Given the description of an element on the screen output the (x, y) to click on. 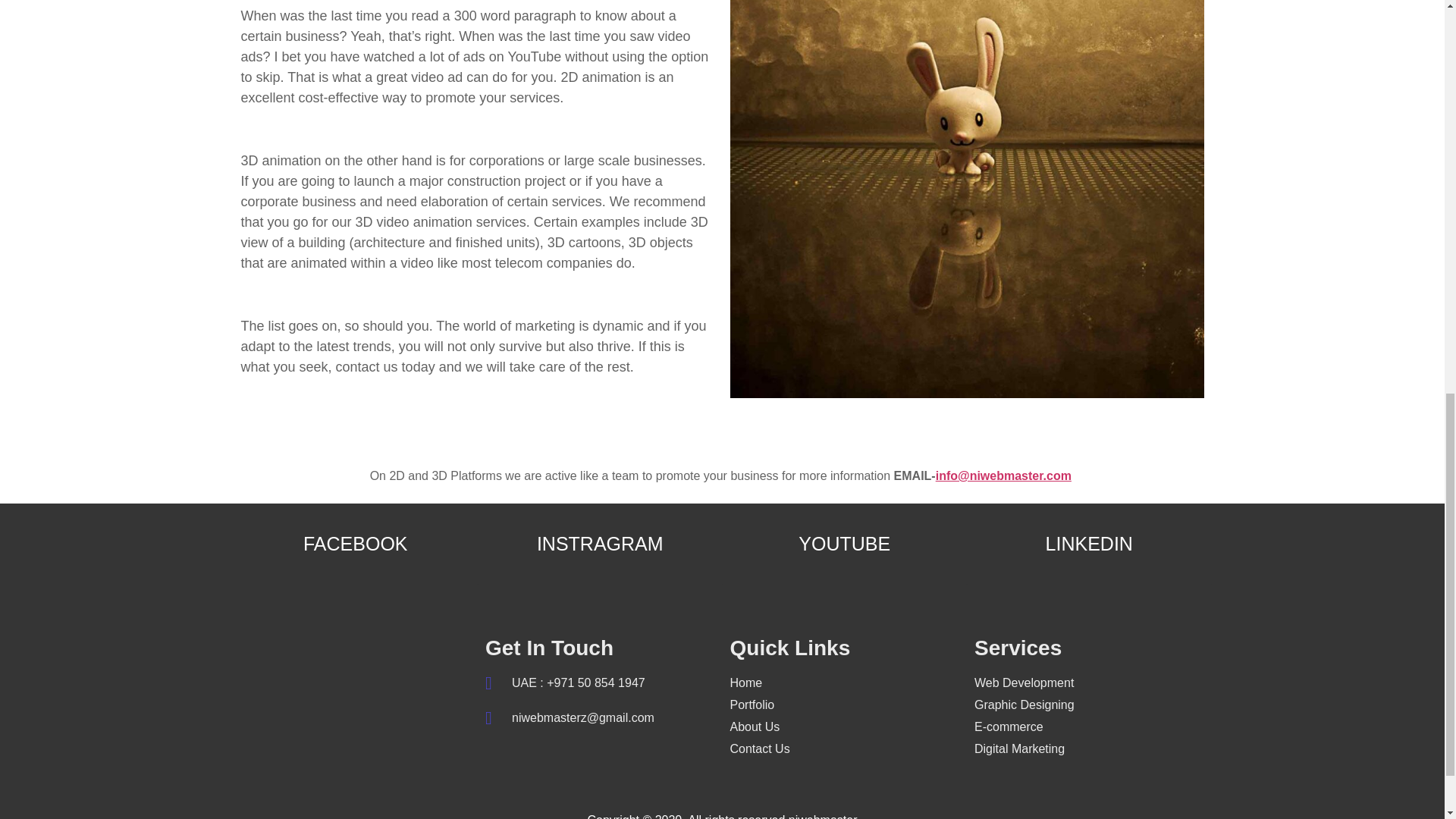
YOUTUBE (844, 543)
Portfolio (844, 705)
INSTRAGRAM (599, 543)
FACEBOOK (355, 543)
LINKEDIN (1088, 543)
